Given the description of an element on the screen output the (x, y) to click on. 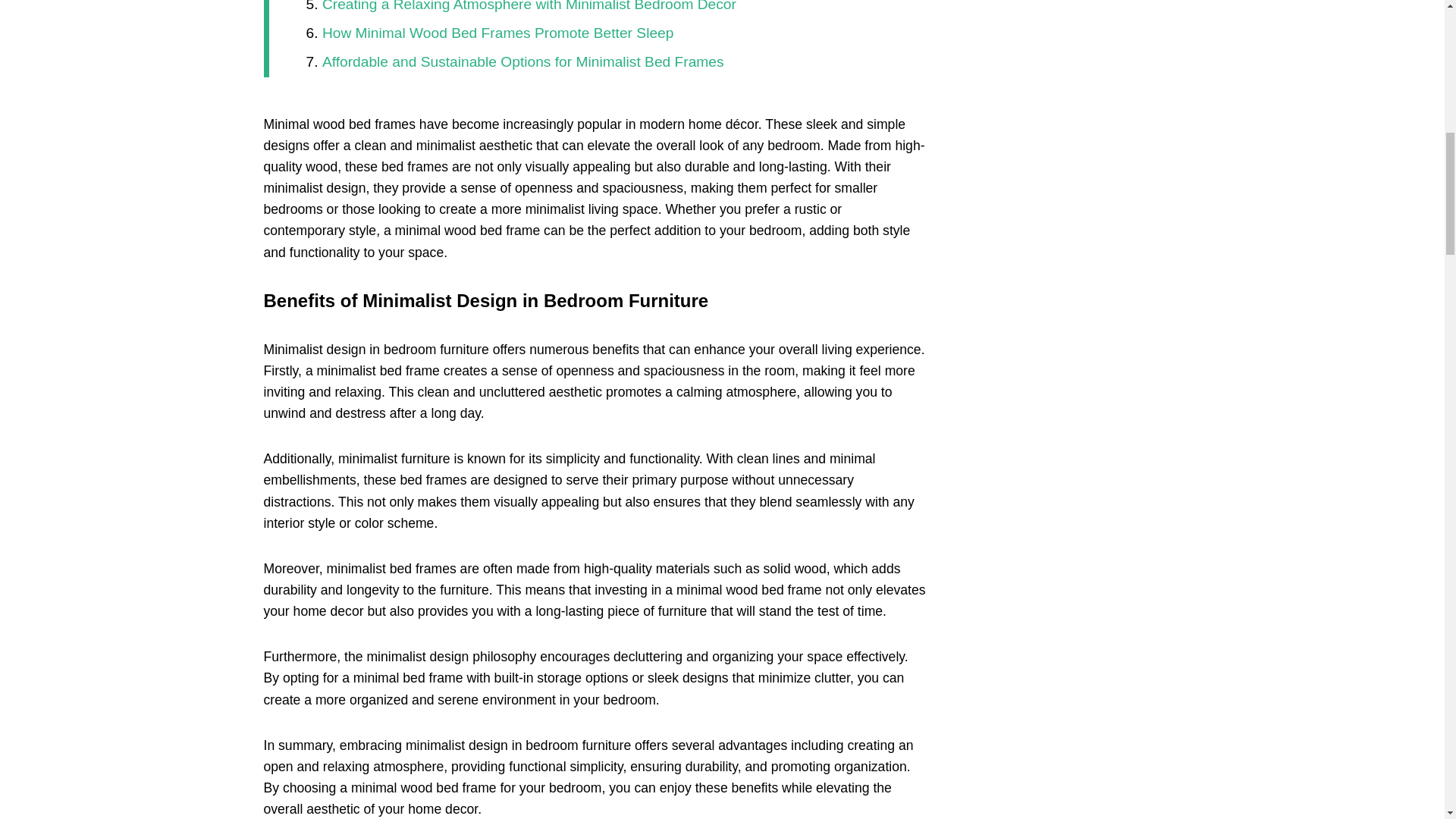
Affordable and Sustainable Options for Minimalist Bed Frames (522, 61)
How Minimal Wood Bed Frames Promote Better Sleep (497, 32)
Creating a Relaxing Atmosphere with Minimalist Bedroom Decor (528, 5)
